Given the description of an element on the screen output the (x, y) to click on. 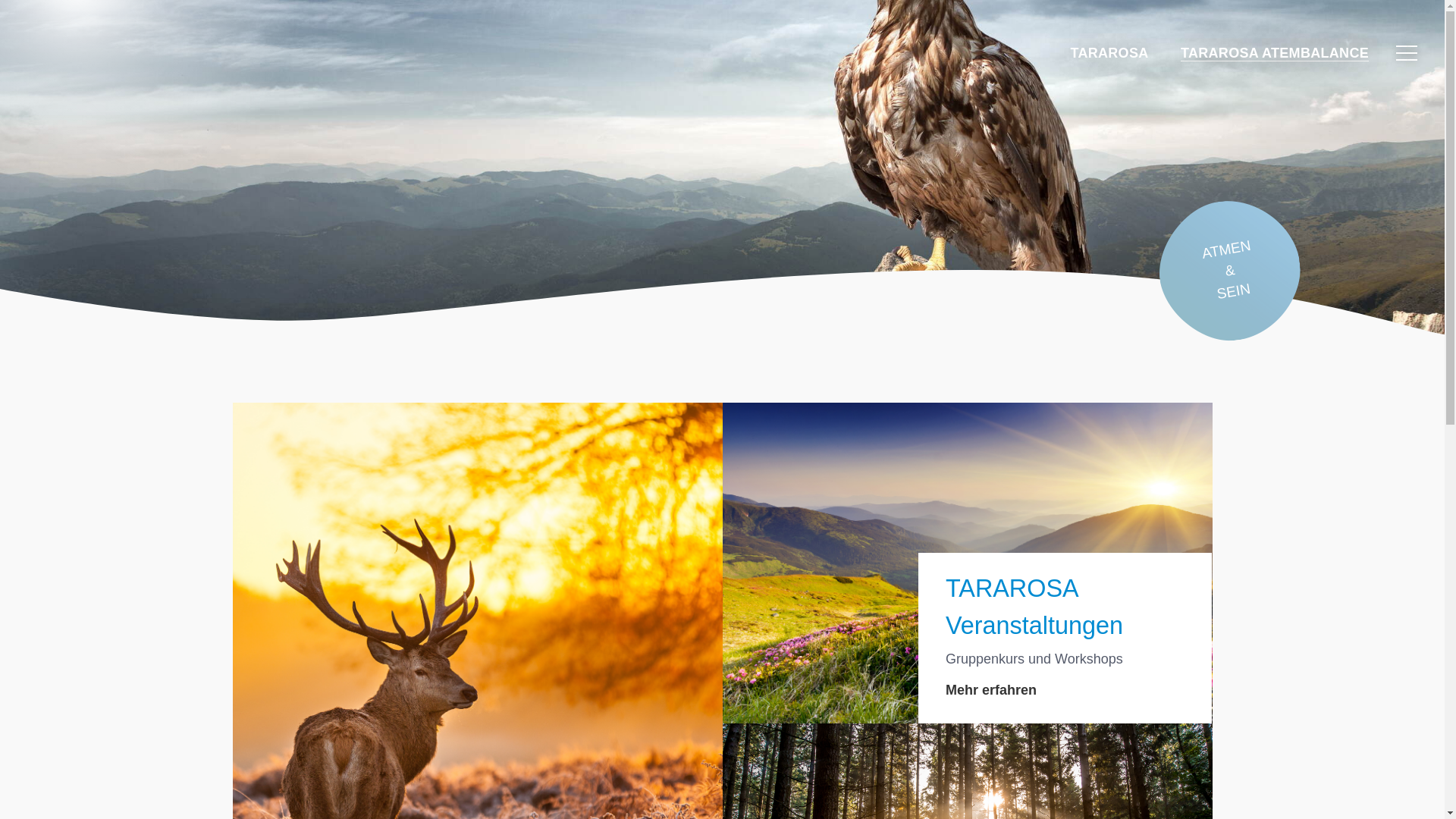
TARAROSA Element type: text (1109, 52)
TARAROSA ATEMBALANCE Element type: text (1274, 53)
